Given the description of an element on the screen output the (x, y) to click on. 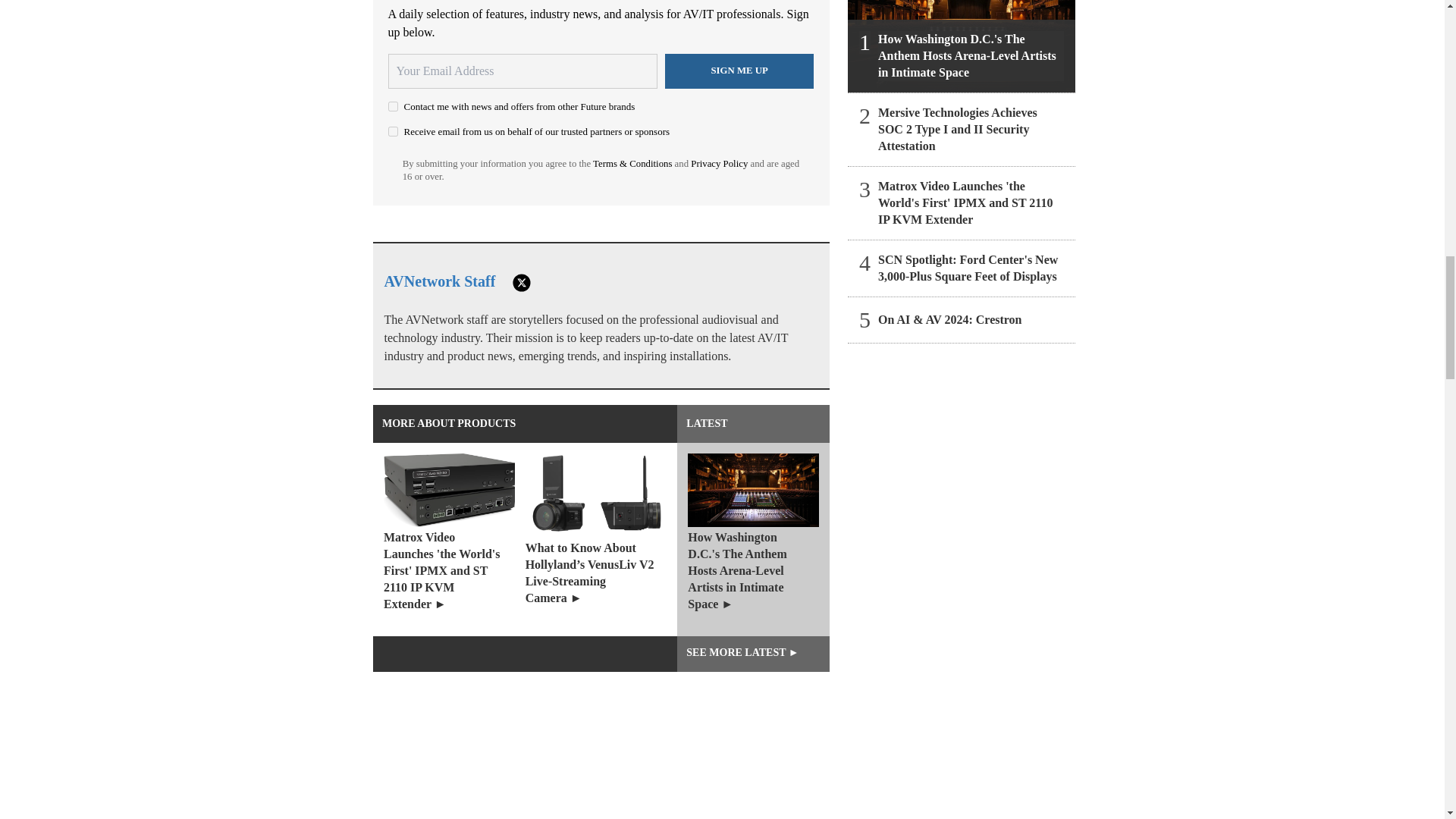
Sign me up (739, 71)
Sign me up (739, 71)
on (392, 106)
on (392, 131)
